Given the description of an element on the screen output the (x, y) to click on. 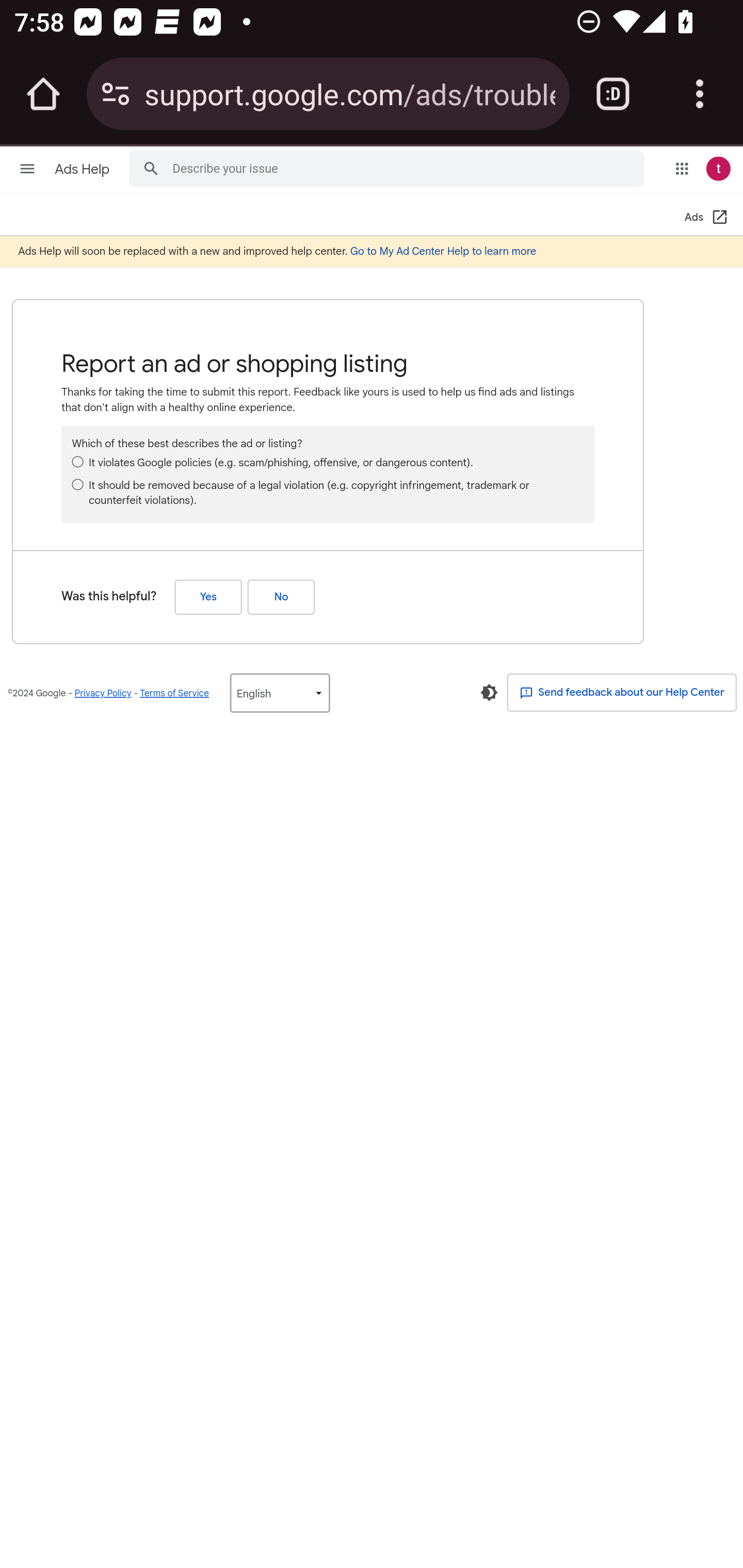
Open the home page (43, 93)
Connection is secure (115, 93)
Switch or close tabs (612, 93)
Customize and control Google Chrome (699, 93)
Main menu (27, 168)
Ads Help (83, 169)
Search Help Center (151, 167)
Google apps (681, 168)
Ads (Open in a new window) Ads (706, 217)
Go to My Ad Center Help to learn more (442, 250)
Yes (Was this helpful?) (208, 596)
No (Was this helpful?) (281, 596)
Language (English‎) (278, 692)
 Send feedback about our Help Center (621, 691)
Enable Dark Mode (488, 692)
Privacy Policy (103, 692)
Terms of Service (174, 692)
